Given the description of an element on the screen output the (x, y) to click on. 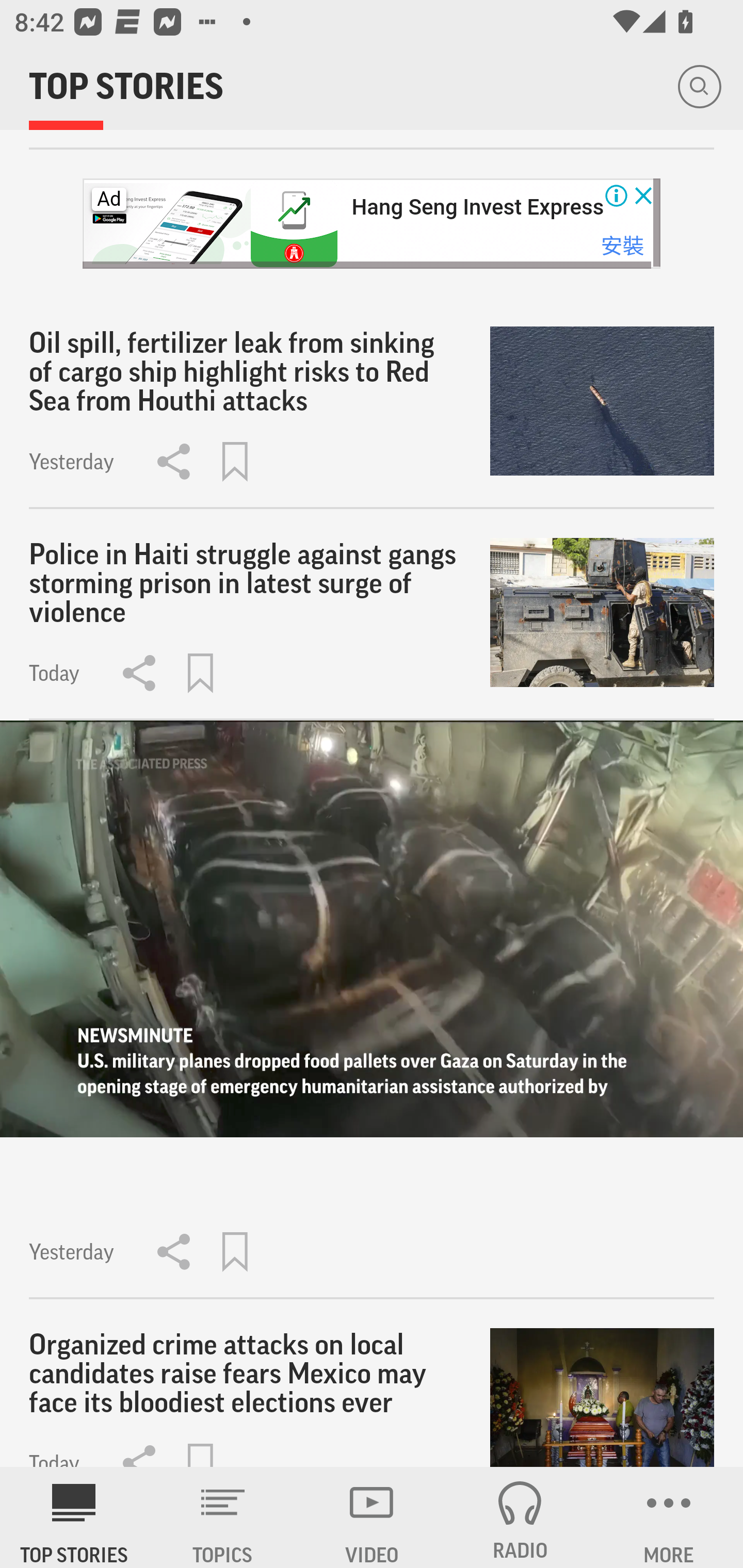
Hang Seng Invest Express (476, 206)
安裝 (621, 245)
toggle controls Yesterday (371, 1010)
toggle controls (371, 928)
AP News TOP STORIES (74, 1517)
TOPICS (222, 1517)
VIDEO (371, 1517)
RADIO (519, 1517)
MORE (668, 1517)
